Given the description of an element on the screen output the (x, y) to click on. 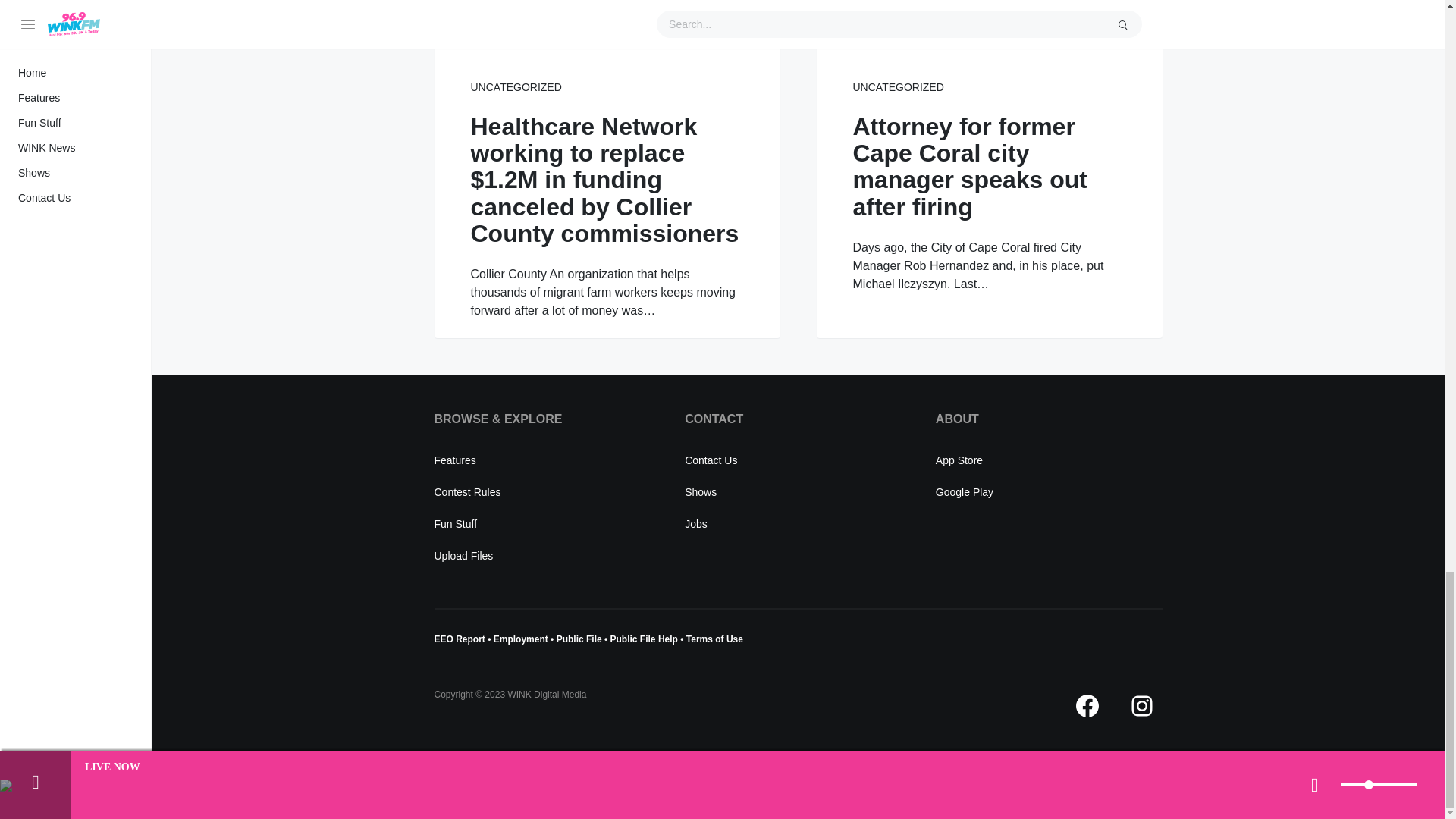
Facebook (1085, 705)
Employment (521, 638)
Terms of Use (713, 638)
Shows (700, 491)
Upload Files (463, 555)
Fun Stuff (455, 523)
Instagram (1141, 705)
Contact Us (710, 460)
Jobs (695, 523)
